Given the description of an element on the screen output the (x, y) to click on. 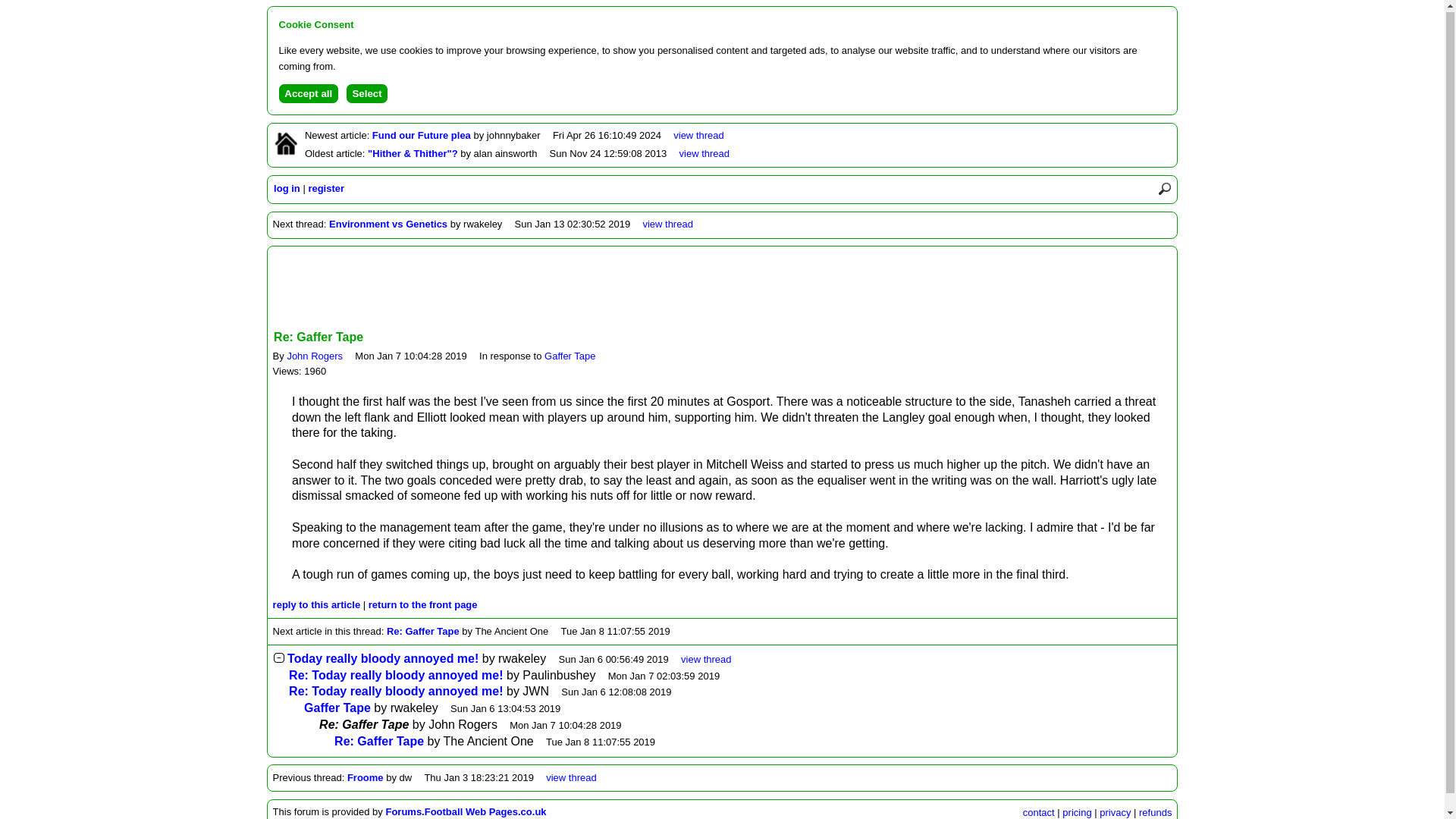
reply to this article (317, 604)
Collapse thread (279, 657)
Select (367, 93)
Froome (365, 777)
view thread (704, 153)
pricing (1076, 812)
Select (367, 93)
Advertisement (722, 289)
Search (1164, 188)
Re: Today really bloody annoyed me! (395, 690)
